Given the description of an element on the screen output the (x, y) to click on. 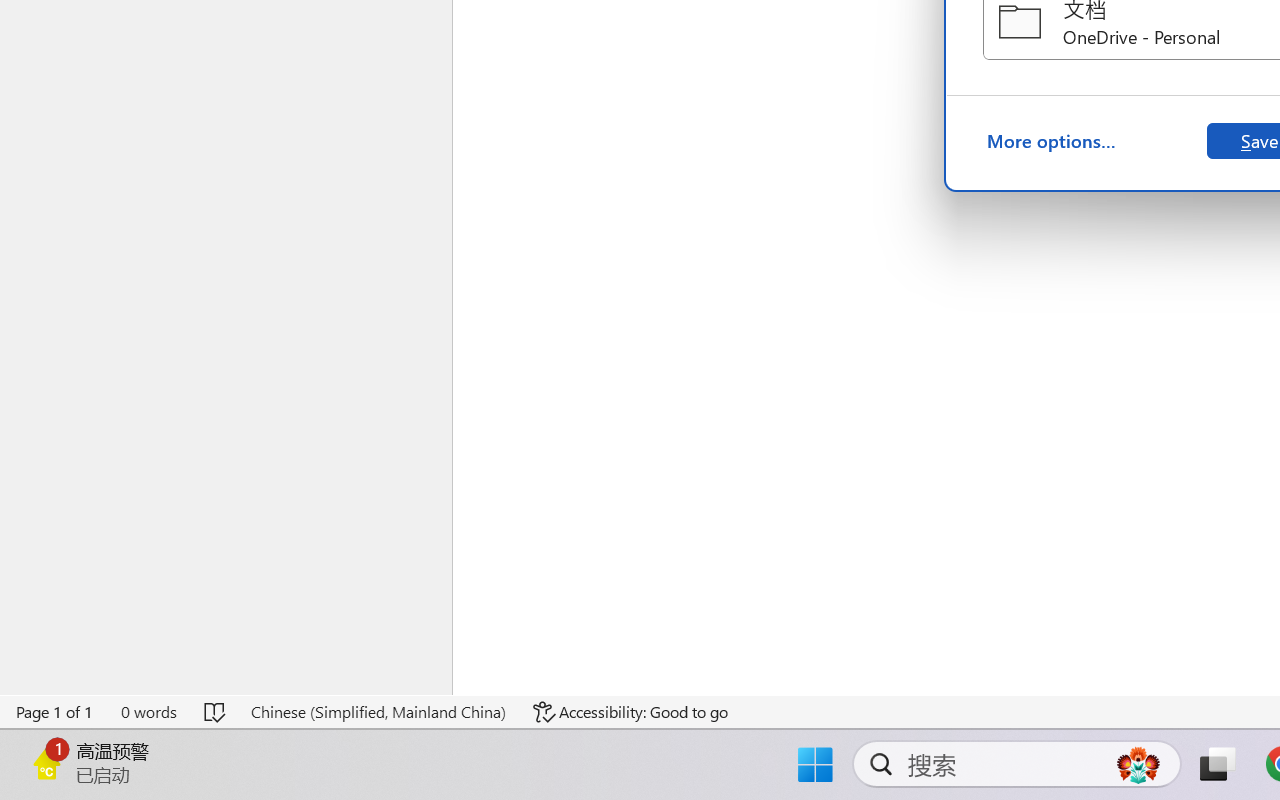
Language Chinese (Simplified, Mainland China) (378, 712)
